Given the description of an element on the screen output the (x, y) to click on. 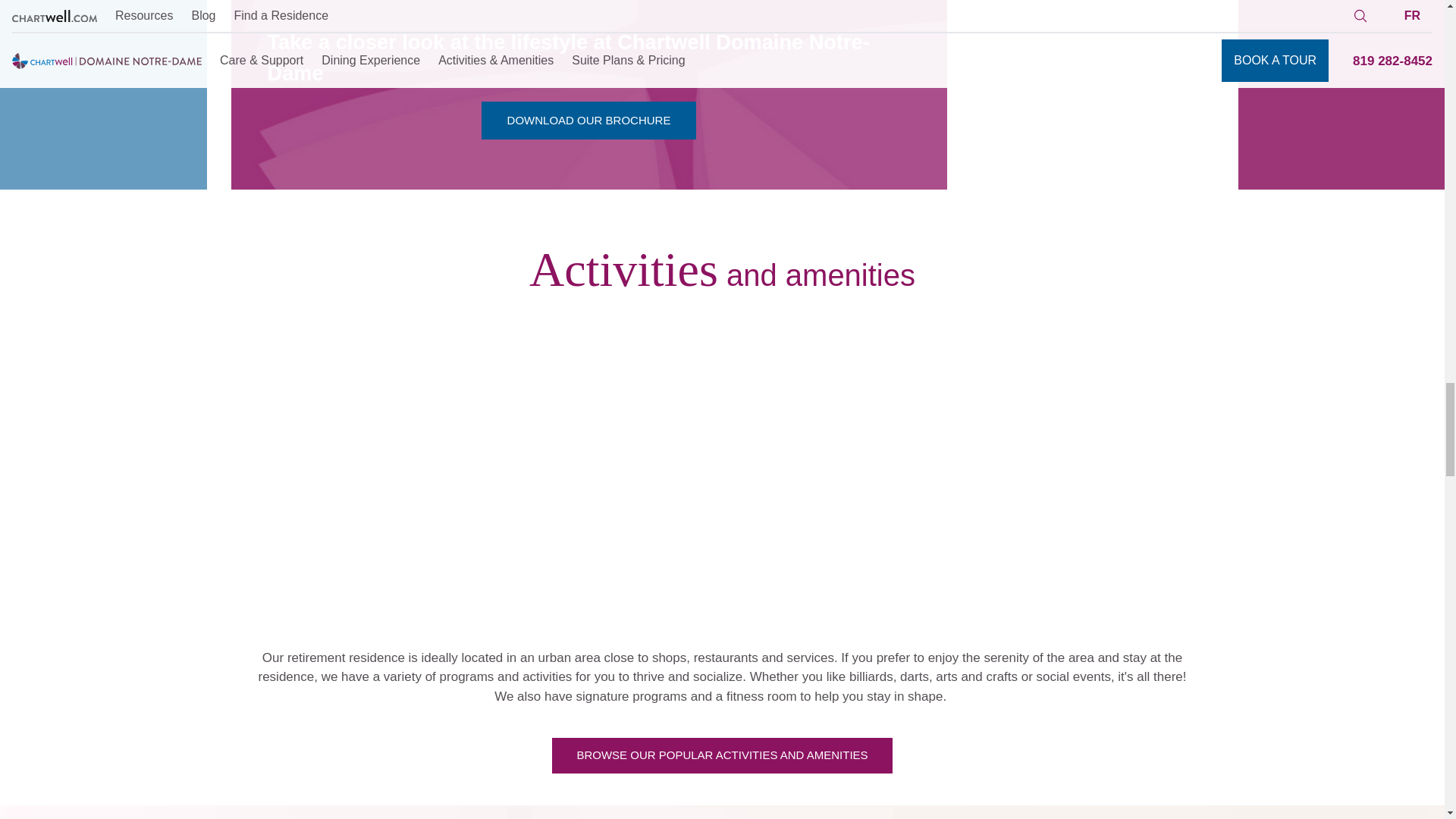
DOWNLOAD OUR BROCHURE (589, 120)
Browse our popular activities and amenities  (589, 120)
